Given the description of an element on the screen output the (x, y) to click on. 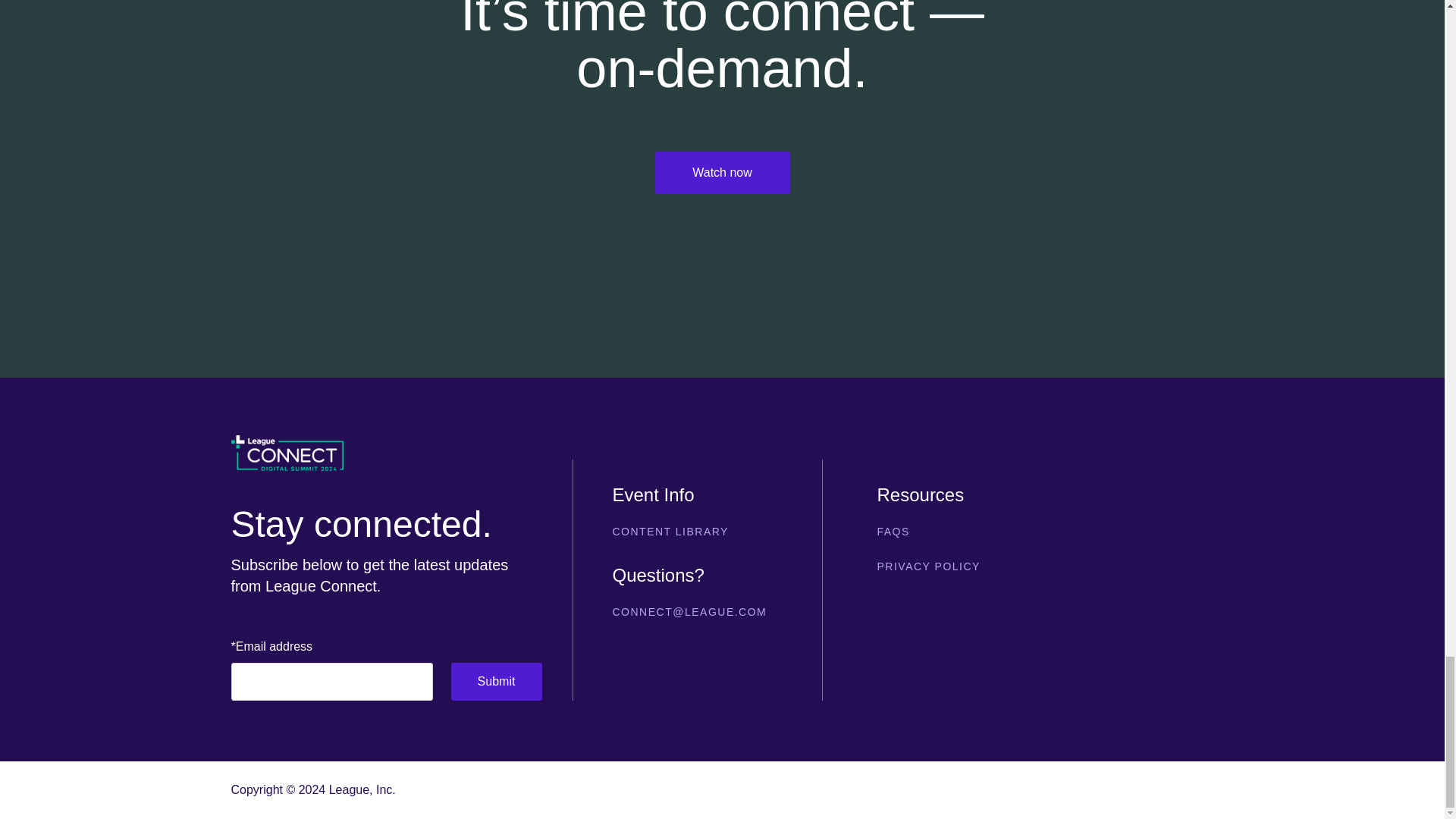
Watch now (722, 172)
Submit (495, 681)
CONTENT LIBRARY (697, 531)
